Given the description of an element on the screen output the (x, y) to click on. 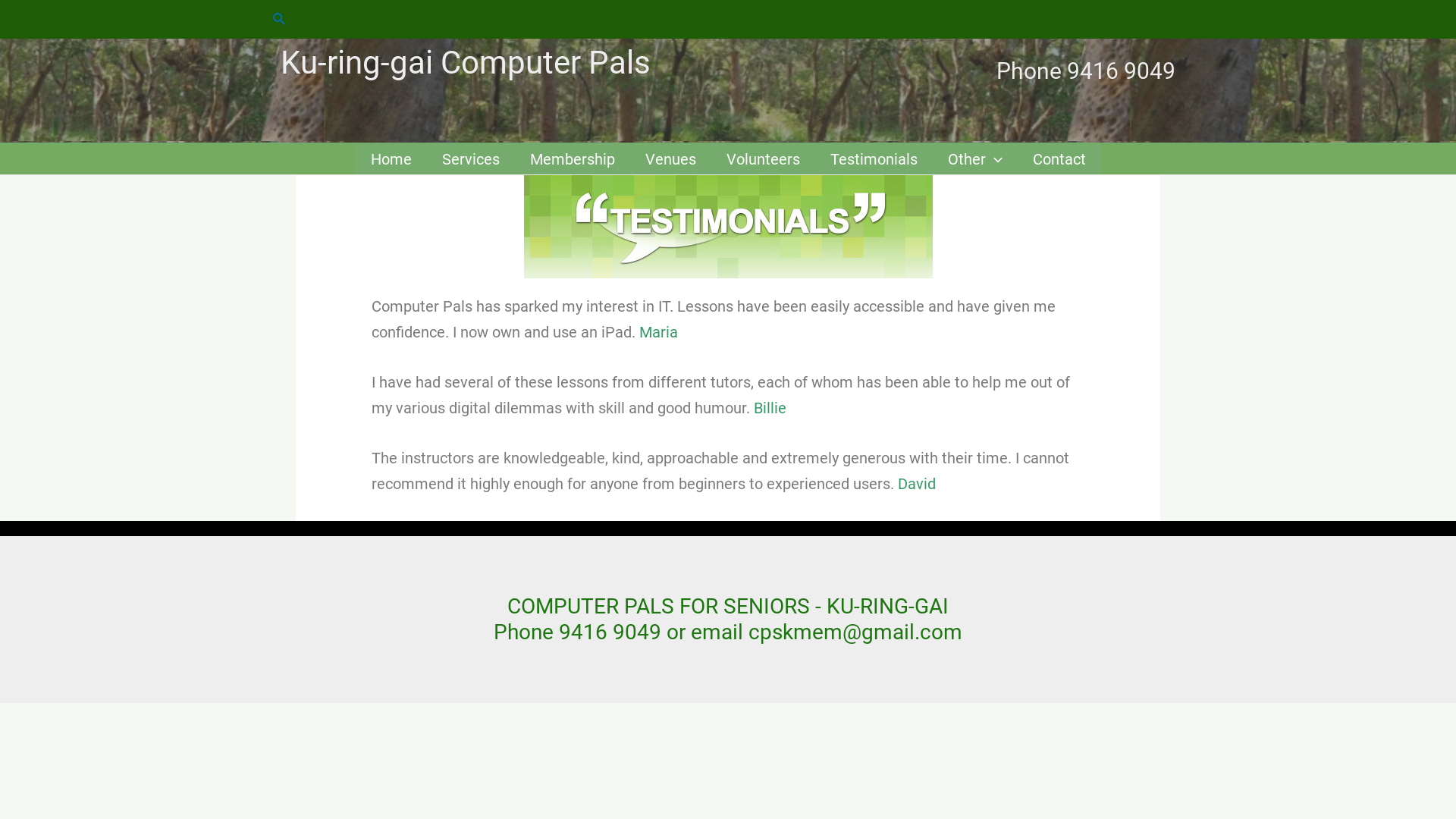
Testimonials Element type: text (872, 159)
Other Element type: text (974, 159)
Services Element type: text (470, 159)
Home Element type: text (390, 159)
Membership Element type: text (571, 159)
Contact Element type: text (1059, 159)
Venues Element type: text (669, 159)
Volunteers Element type: text (763, 159)
